Given the description of an element on the screen output the (x, y) to click on. 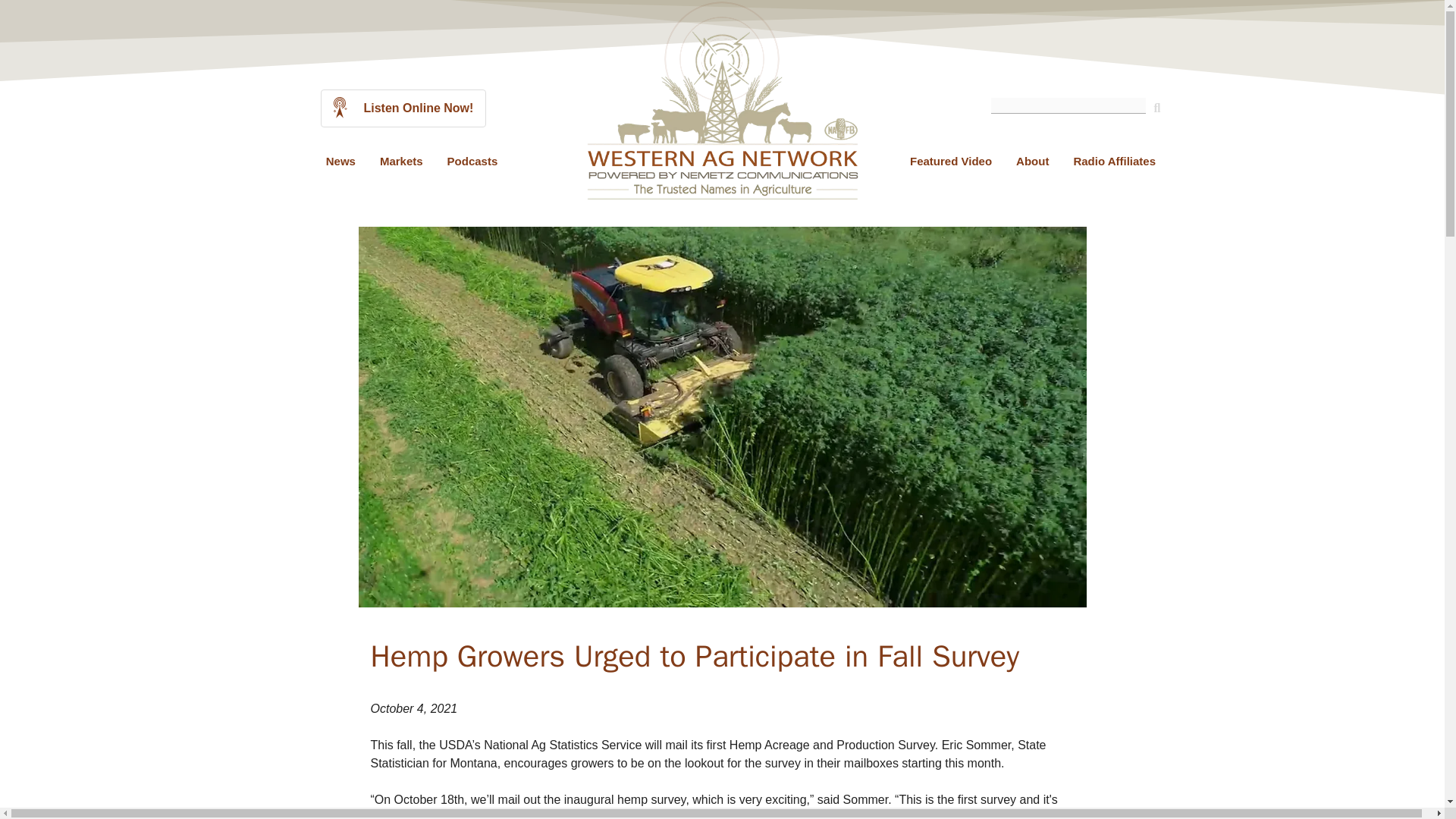
Featured Video (951, 161)
News (341, 161)
Podcasts (473, 161)
Listen Online Now! (403, 108)
Markets (401, 161)
Radio Affiliates (1114, 161)
About (1032, 161)
